Given the description of an element on the screen output the (x, y) to click on. 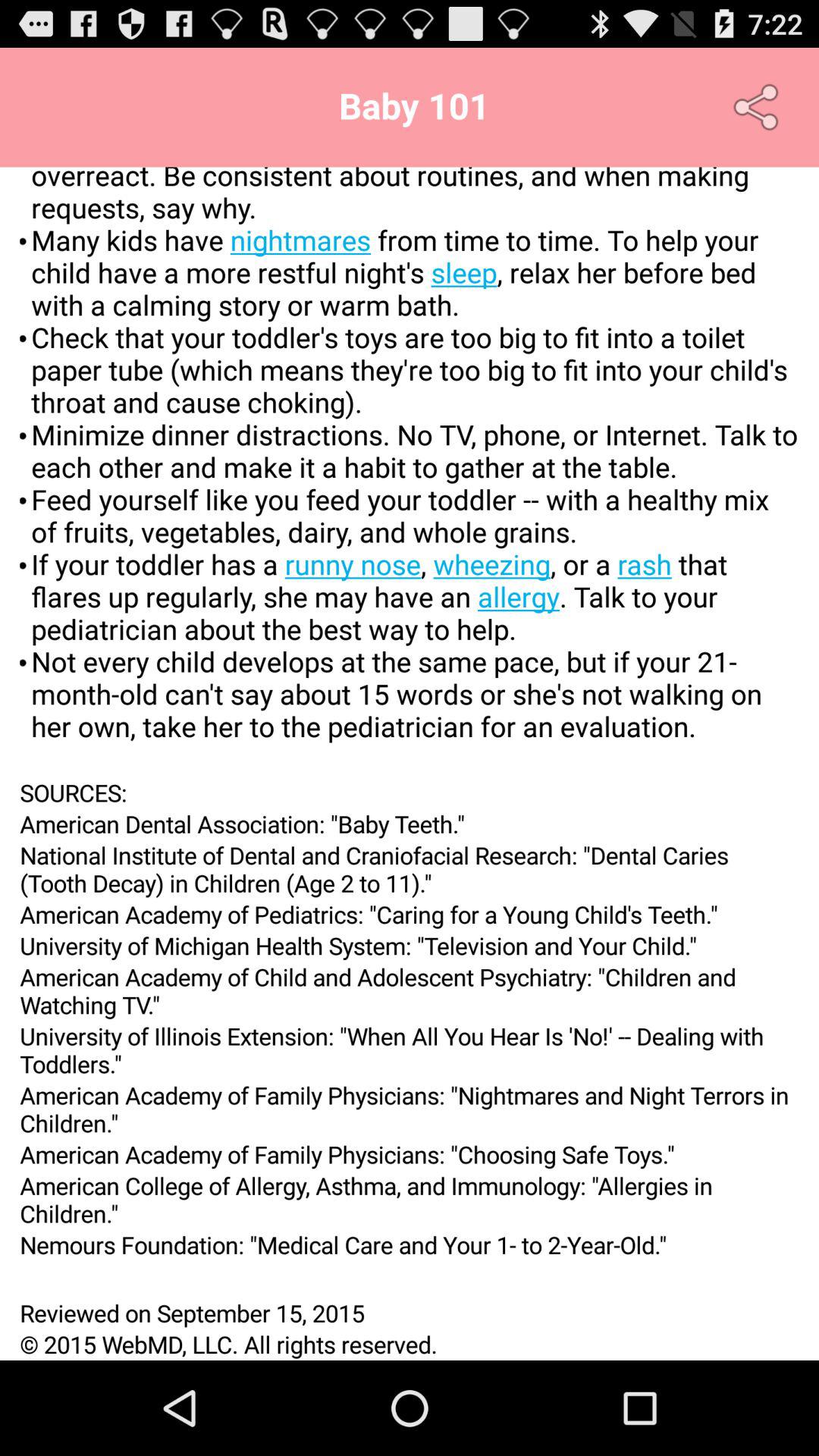
swipe to nemours foundation medical (409, 1244)
